Given the description of an element on the screen output the (x, y) to click on. 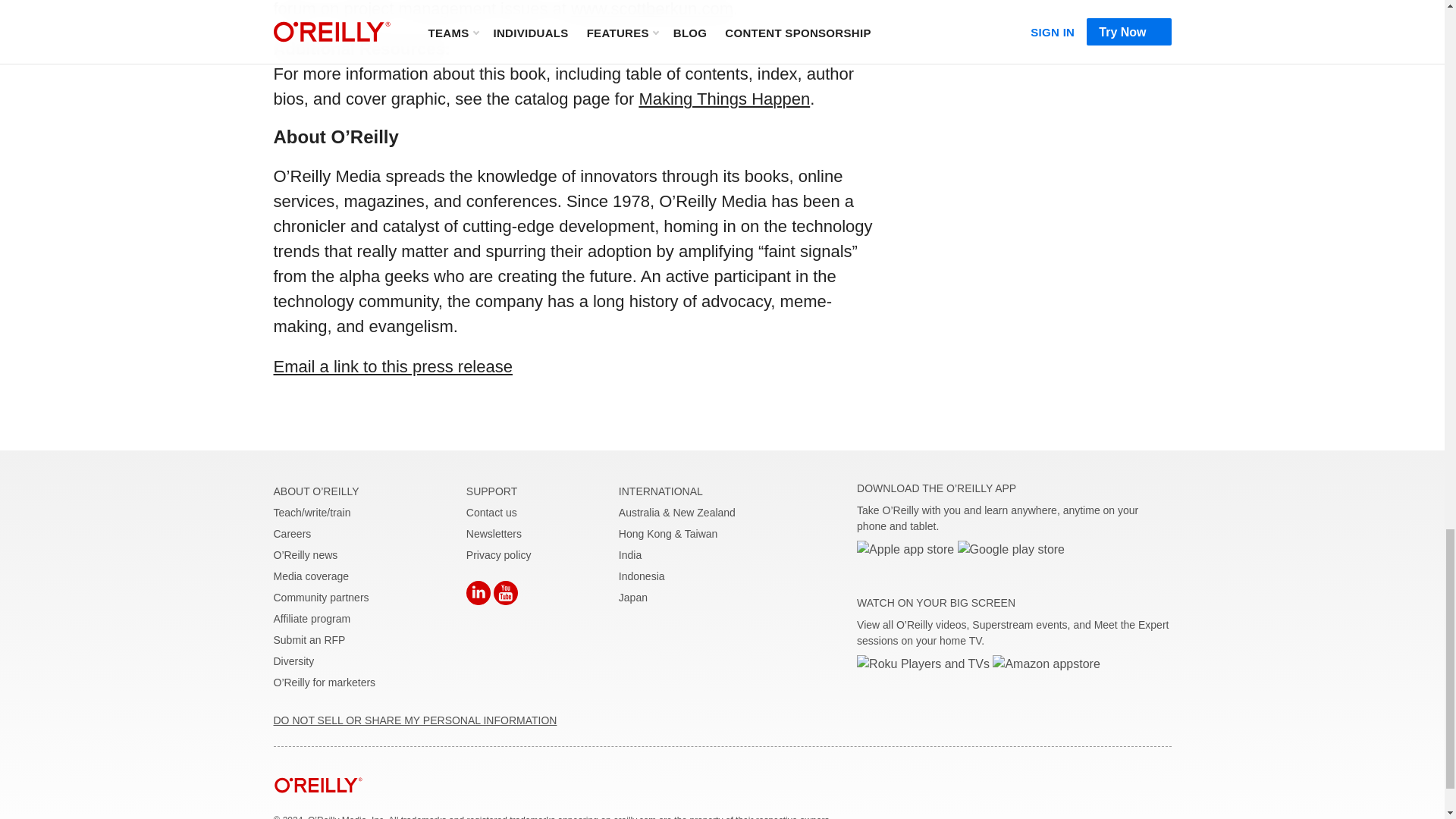
www.scottberkun.com (651, 9)
Media coverage (311, 576)
home page (317, 803)
Careers (292, 533)
Making Things Happen (724, 98)
Email a link to this press release (392, 366)
